Given the description of an element on the screen output the (x, y) to click on. 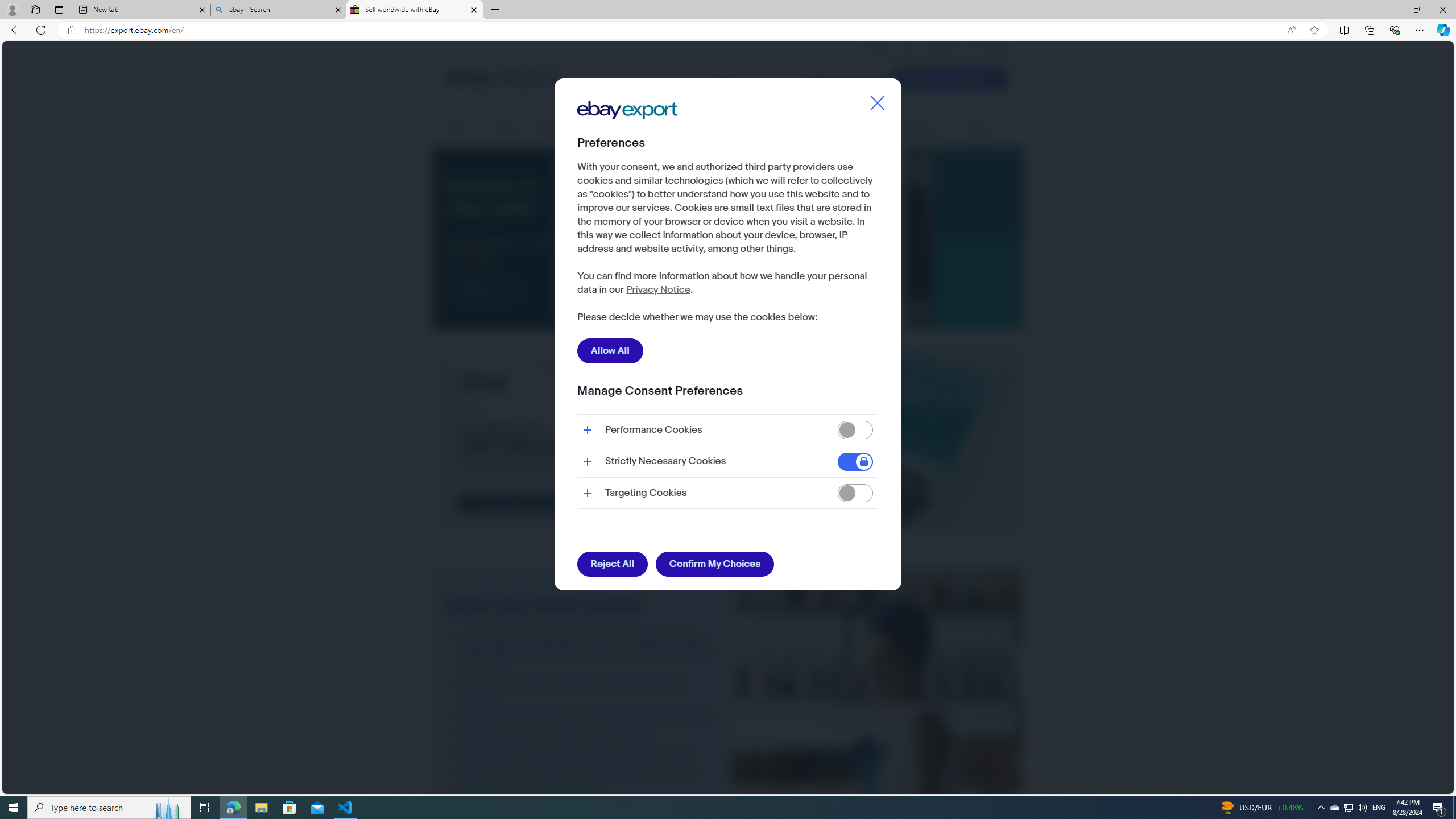
Get eBay product sales research on the go (582, 733)
Marketing (874, 127)
Find out (484, 288)
Decline all (766, 317)
Ebay Export (630, 145)
Performance Cookies (855, 429)
Company Logo (627, 110)
Shipping (507, 127)
A simplified, consolidated view of your eBay earnings (582, 769)
